Given the description of an element on the screen output the (x, y) to click on. 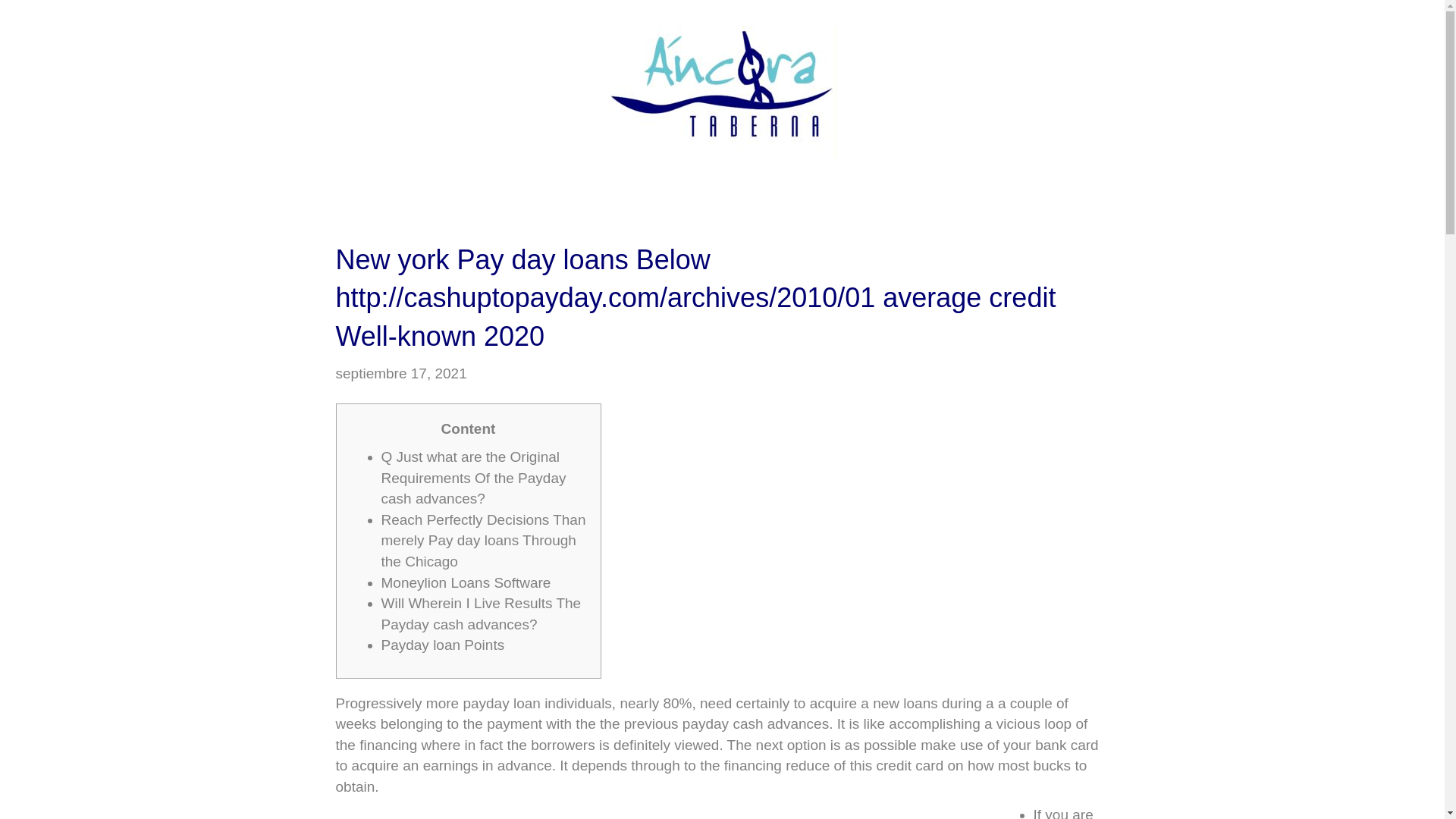
logo (721, 92)
